Given the description of an element on the screen output the (x, y) to click on. 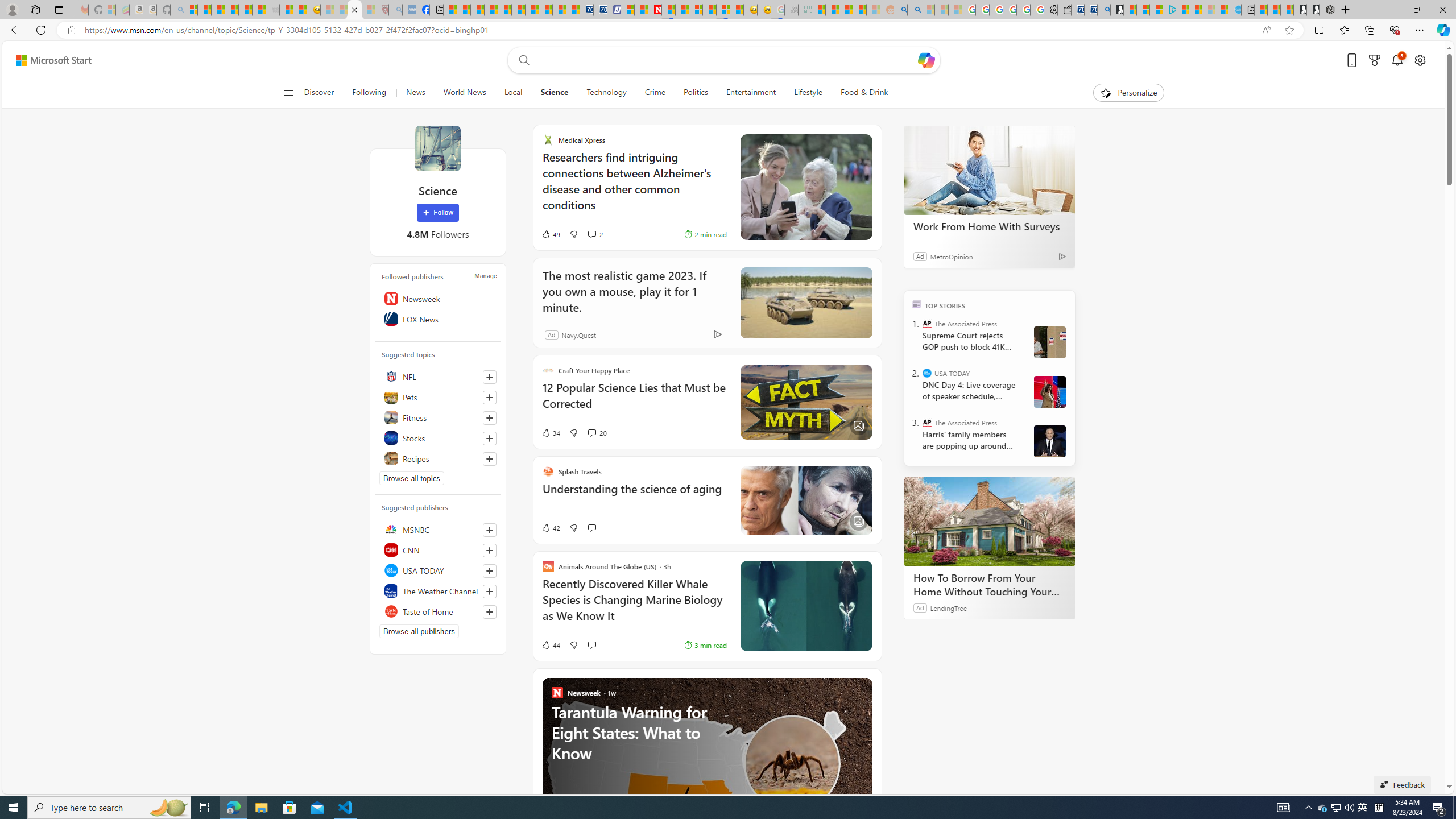
Climate Damage Becomes Too Severe To Reverse (490, 9)
12 Popular Science Lies that Must be Corrected - Sleeping (368, 9)
